Given the description of an element on the screen output the (x, y) to click on. 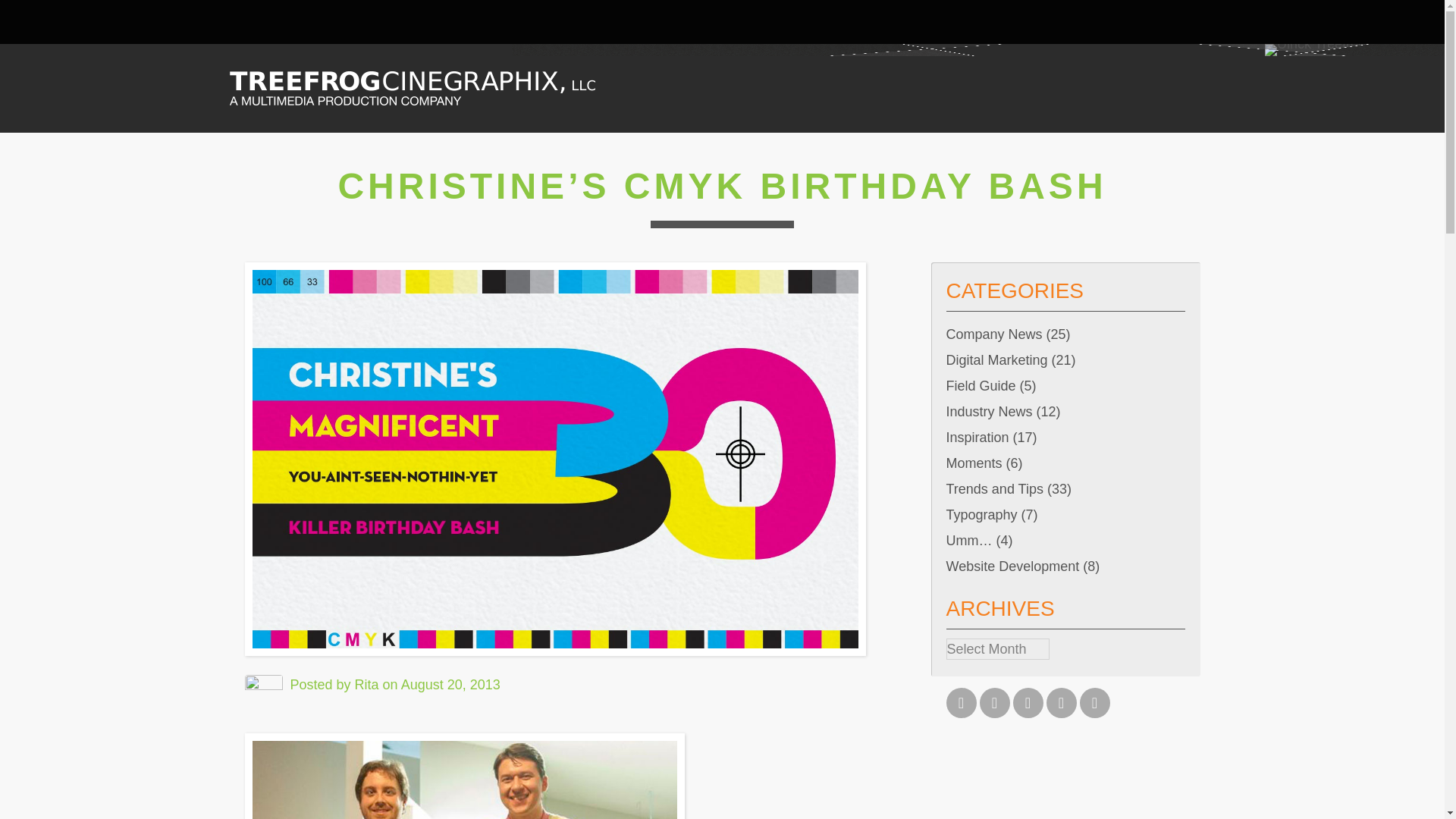
Field Guide (981, 385)
Trends and Tips (994, 488)
Industry News (989, 411)
Company News (994, 334)
Digital Marketing (997, 360)
Inspiration (977, 437)
Website Development (1013, 566)
Typography (981, 514)
Moments (974, 463)
